Given the description of an element on the screen output the (x, y) to click on. 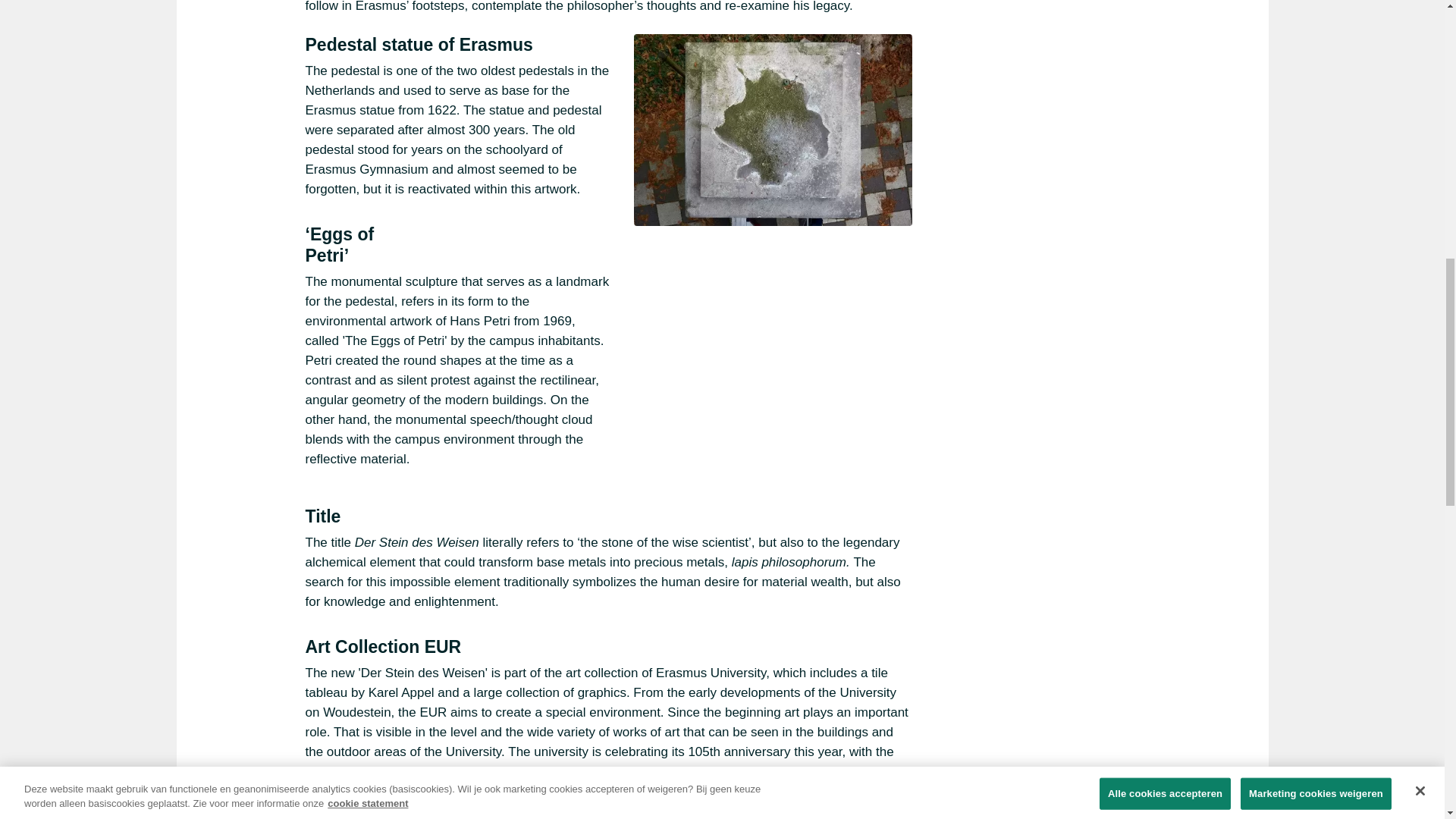
Science Meets City (397, 771)
